Given the description of an element on the screen output the (x, y) to click on. 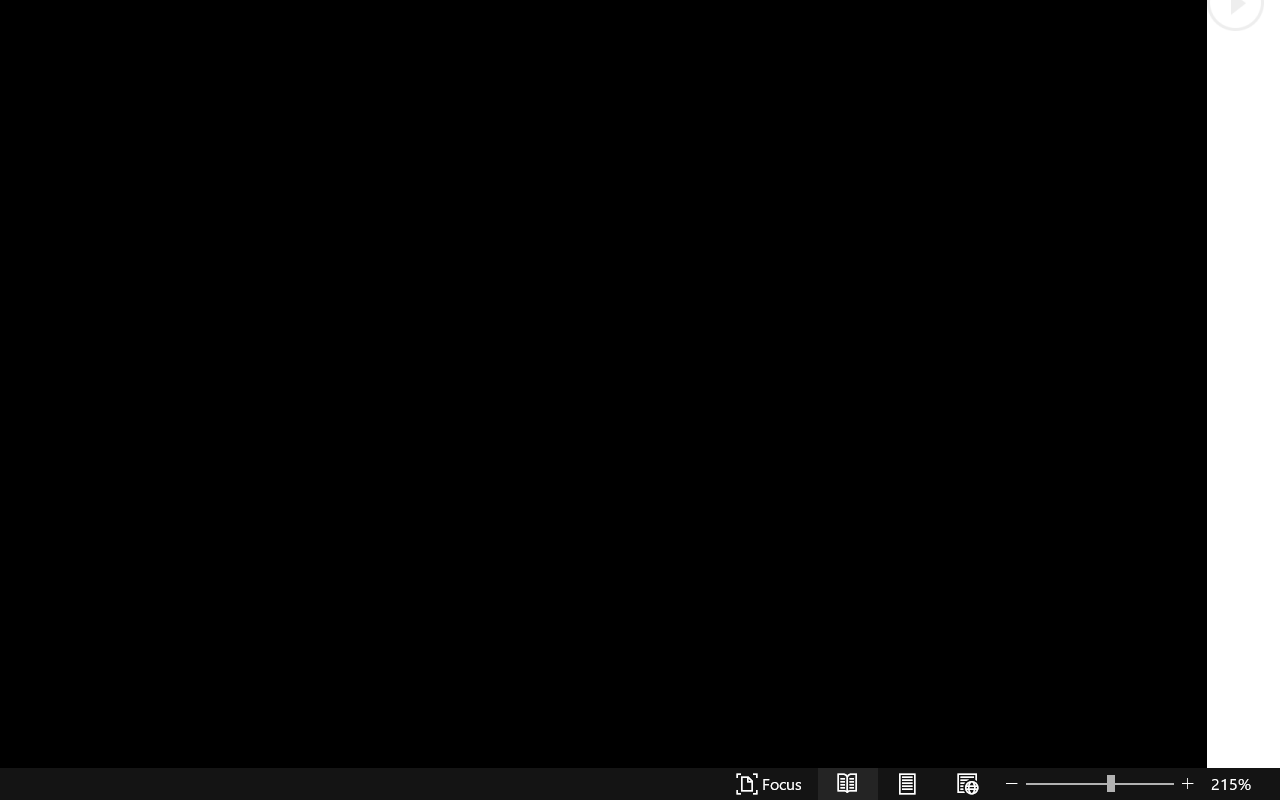
Something.md (1192, 288)
Line down (1267, 785)
edit (1192, 140)
Page down (1267, 734)
